Given the description of an element on the screen output the (x, y) to click on. 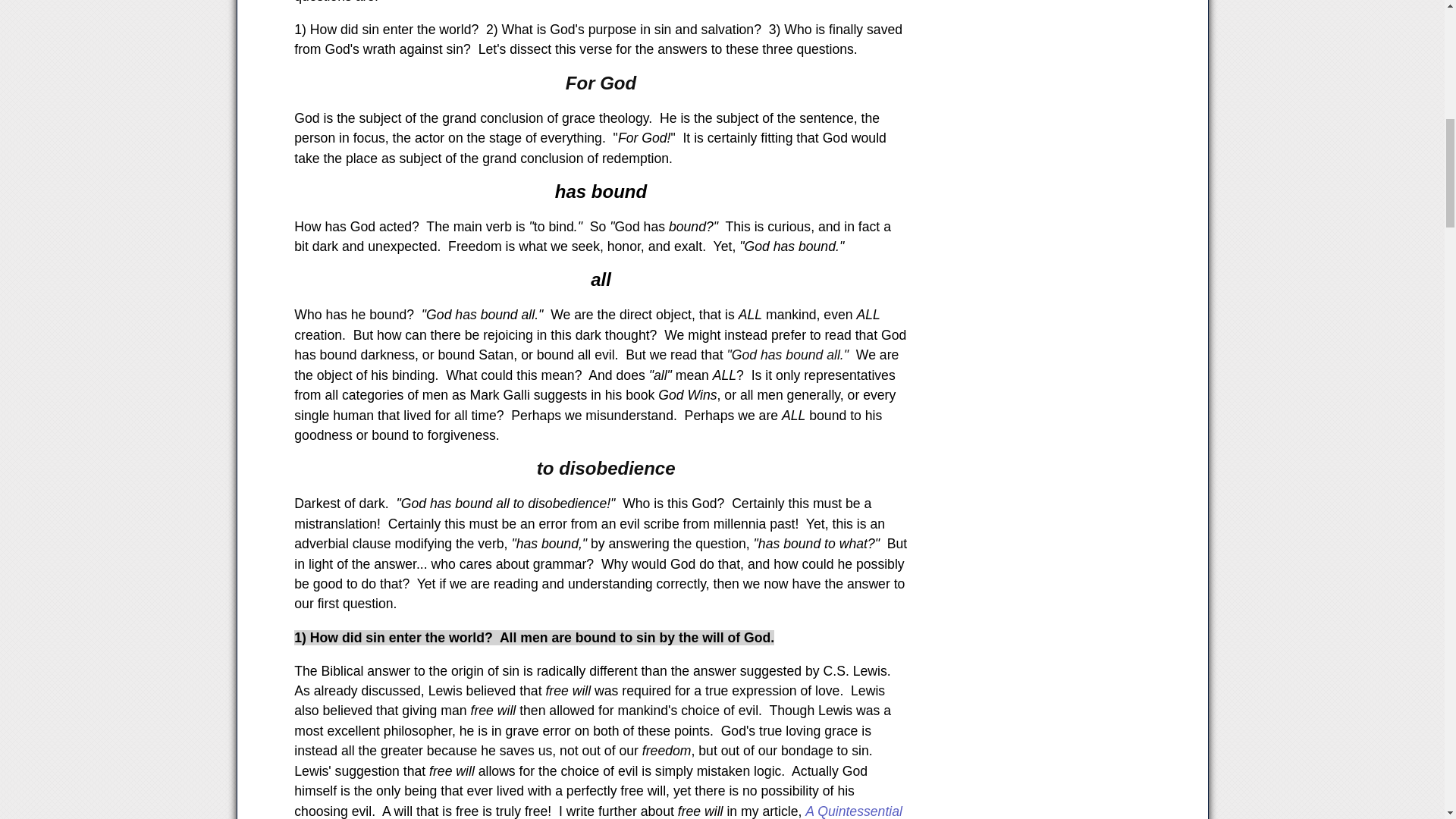
A Quintessential Defense of FREE WILL (598, 811)
